Given the description of an element on the screen output the (x, y) to click on. 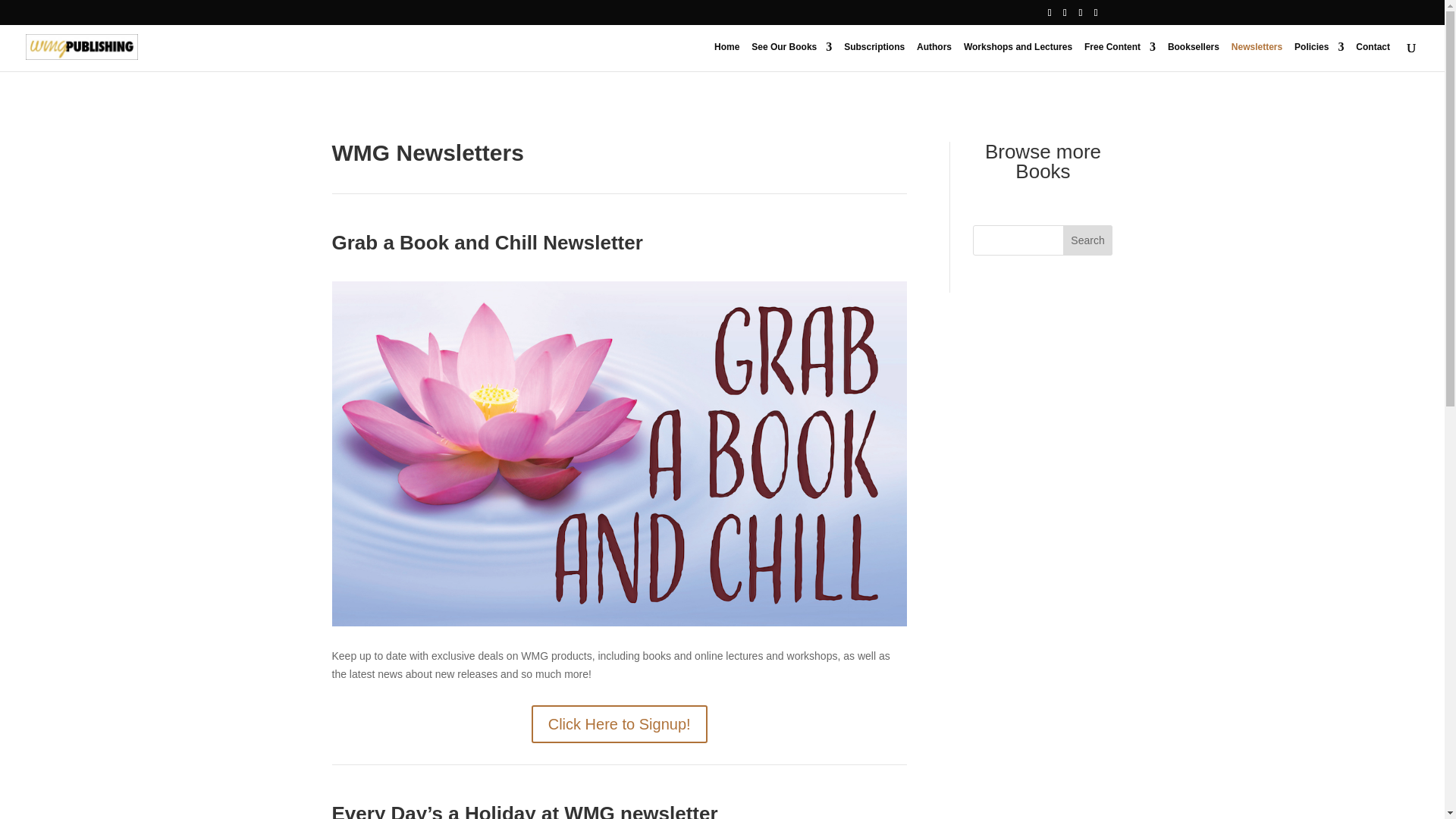
Booksellers (1193, 56)
Free Content (1120, 56)
Subscriptions (874, 56)
Workshops and Lectures (1017, 56)
Authors (934, 56)
Browse more Books (1042, 161)
Newsletters (1256, 56)
Search (1087, 240)
Policies (1318, 56)
